Given the description of an element on the screen output the (x, y) to click on. 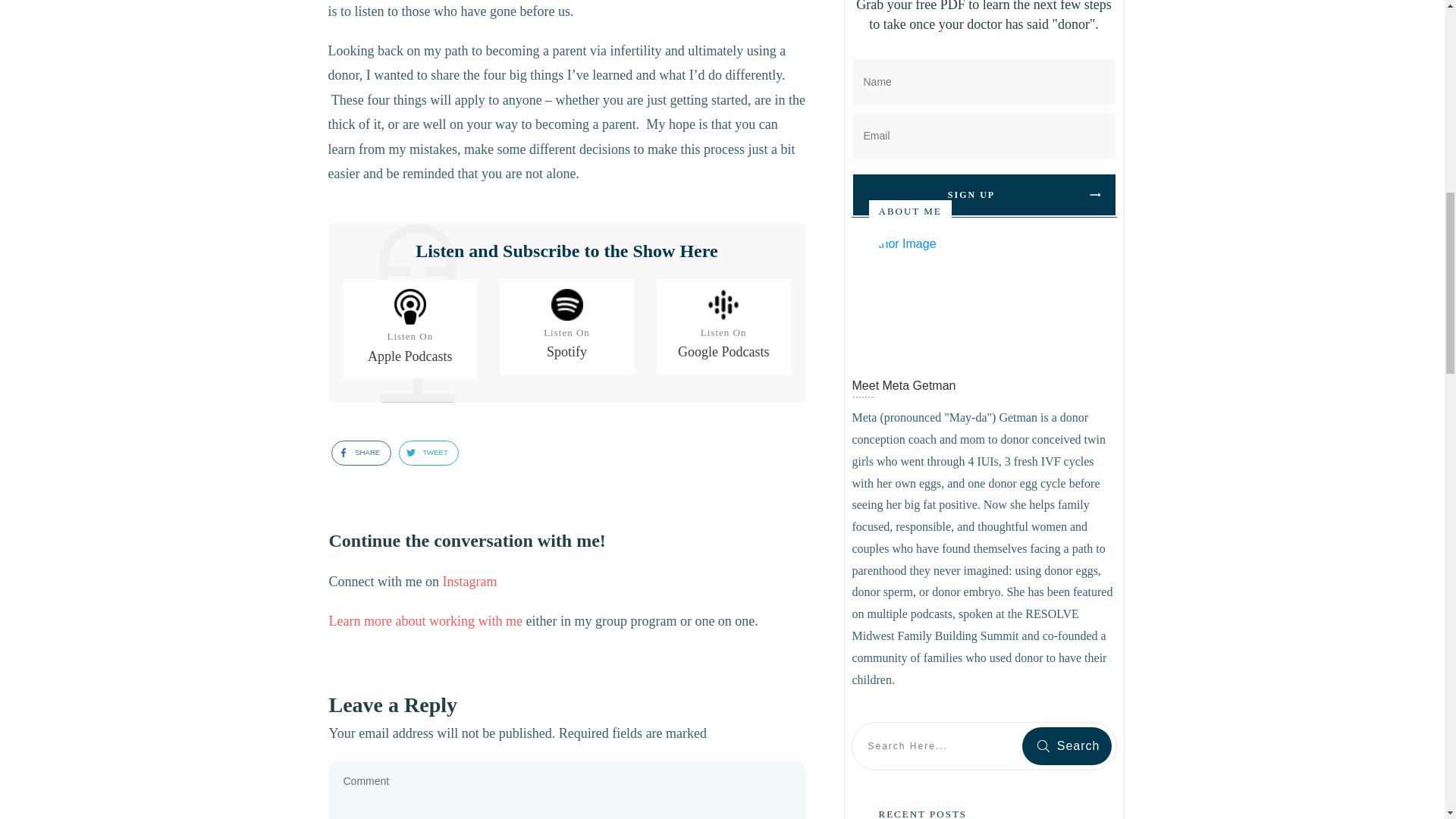
Google Podcasts (724, 351)
GPodcastLogo-Symbol (723, 305)
Search (1067, 745)
TWEET (423, 453)
Spotify (566, 351)
Apple Podcasts (410, 355)
SIGN UP (983, 194)
Spotify-Logo-Symbol (566, 305)
undefined (913, 298)
Learn more about working with me (425, 620)
